Given the description of an element on the screen output the (x, y) to click on. 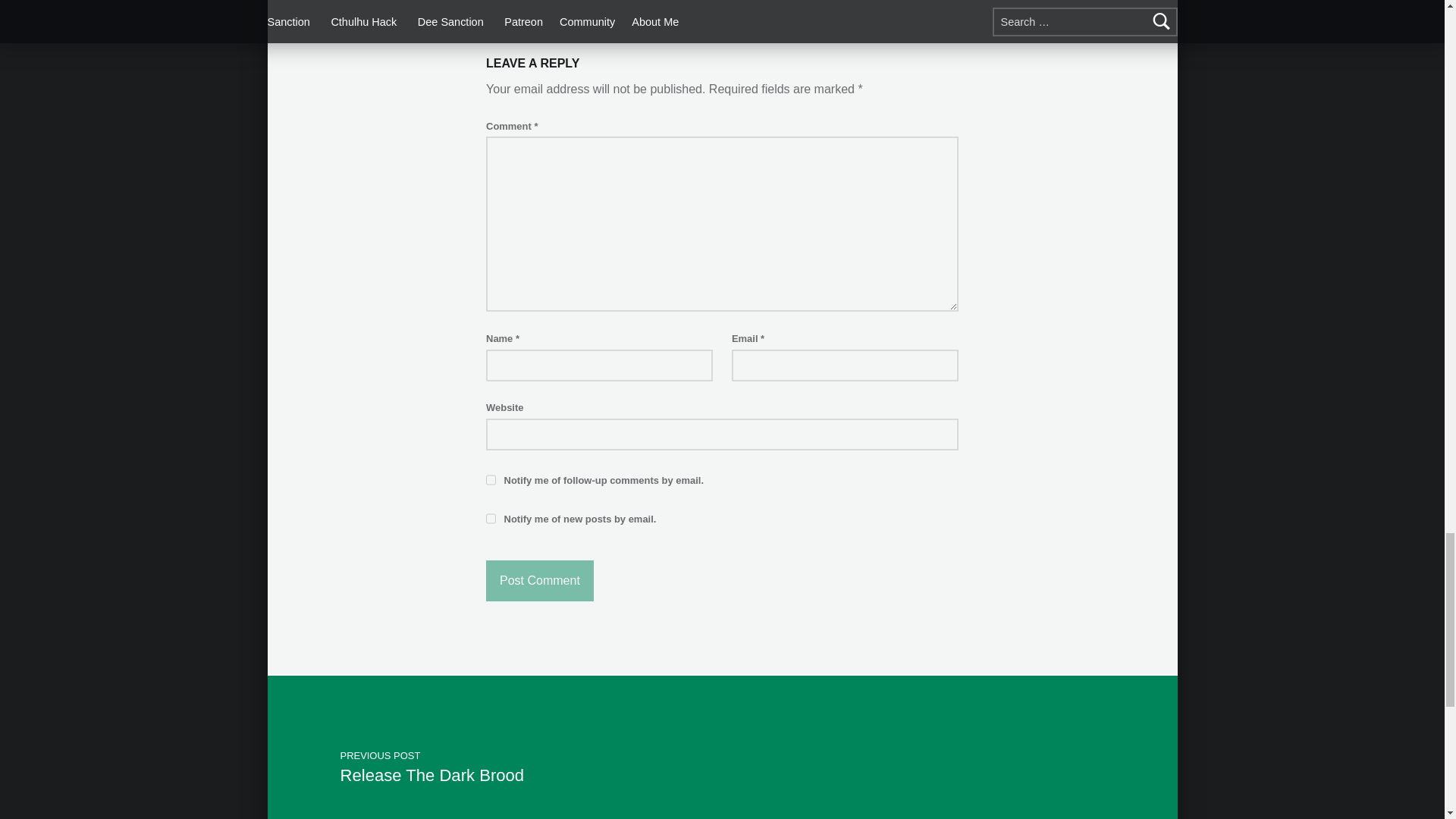
Post Comment (540, 580)
